Given the description of an element on the screen output the (x, y) to click on. 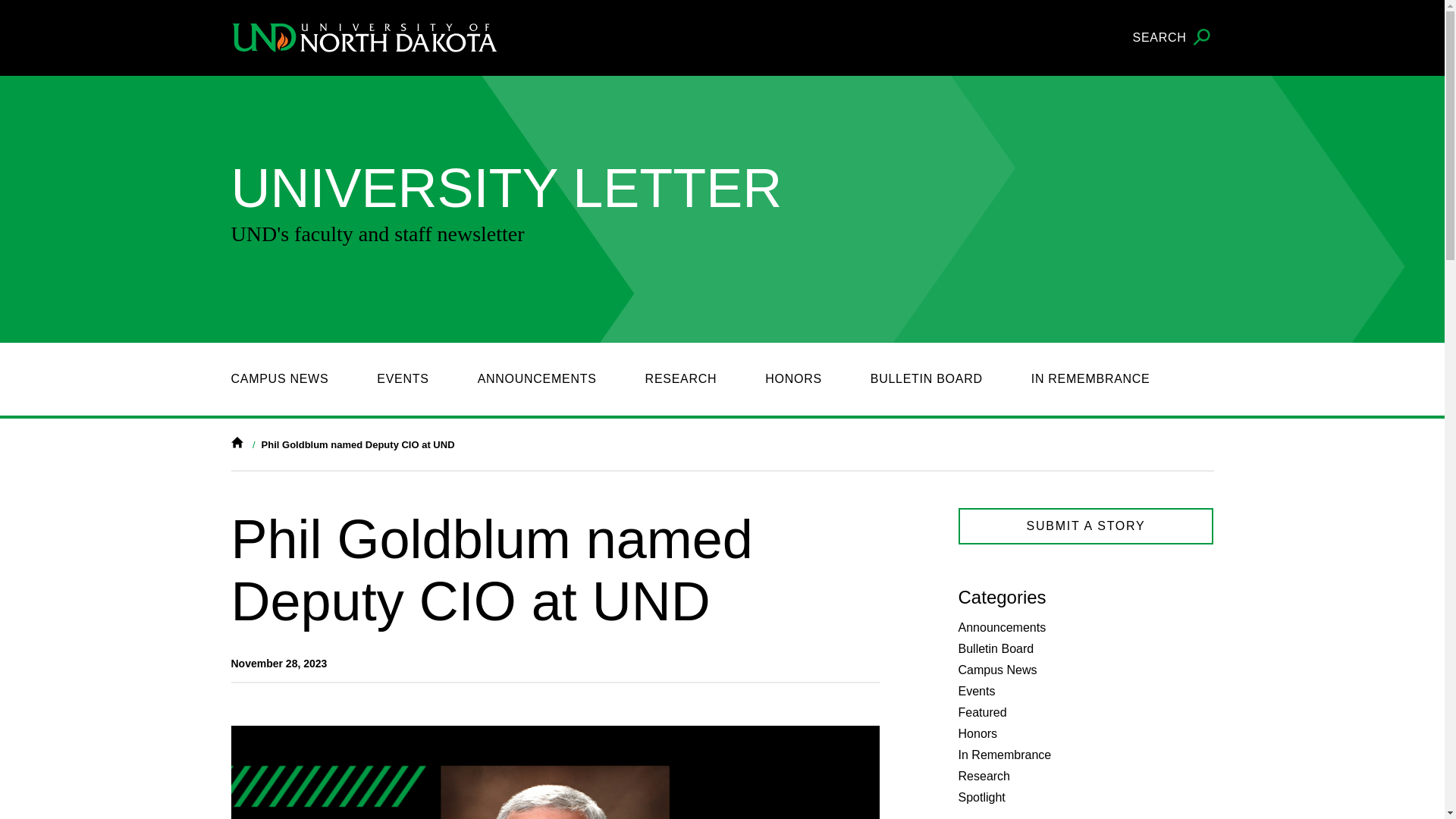
UNIVERSITY LETTER (449, 188)
Campus News (997, 669)
CAMPUS NEWS (279, 378)
BULLETIN BOARD (926, 378)
In Remembrance (1004, 754)
Featured (982, 712)
EVENTS (402, 378)
SEARCH (1173, 37)
Announcements (1002, 626)
Honors (977, 733)
Research (984, 775)
Events (976, 690)
Bulletin Board (995, 648)
Spotlight (982, 797)
HONORS (793, 378)
